Given the description of an element on the screen output the (x, y) to click on. 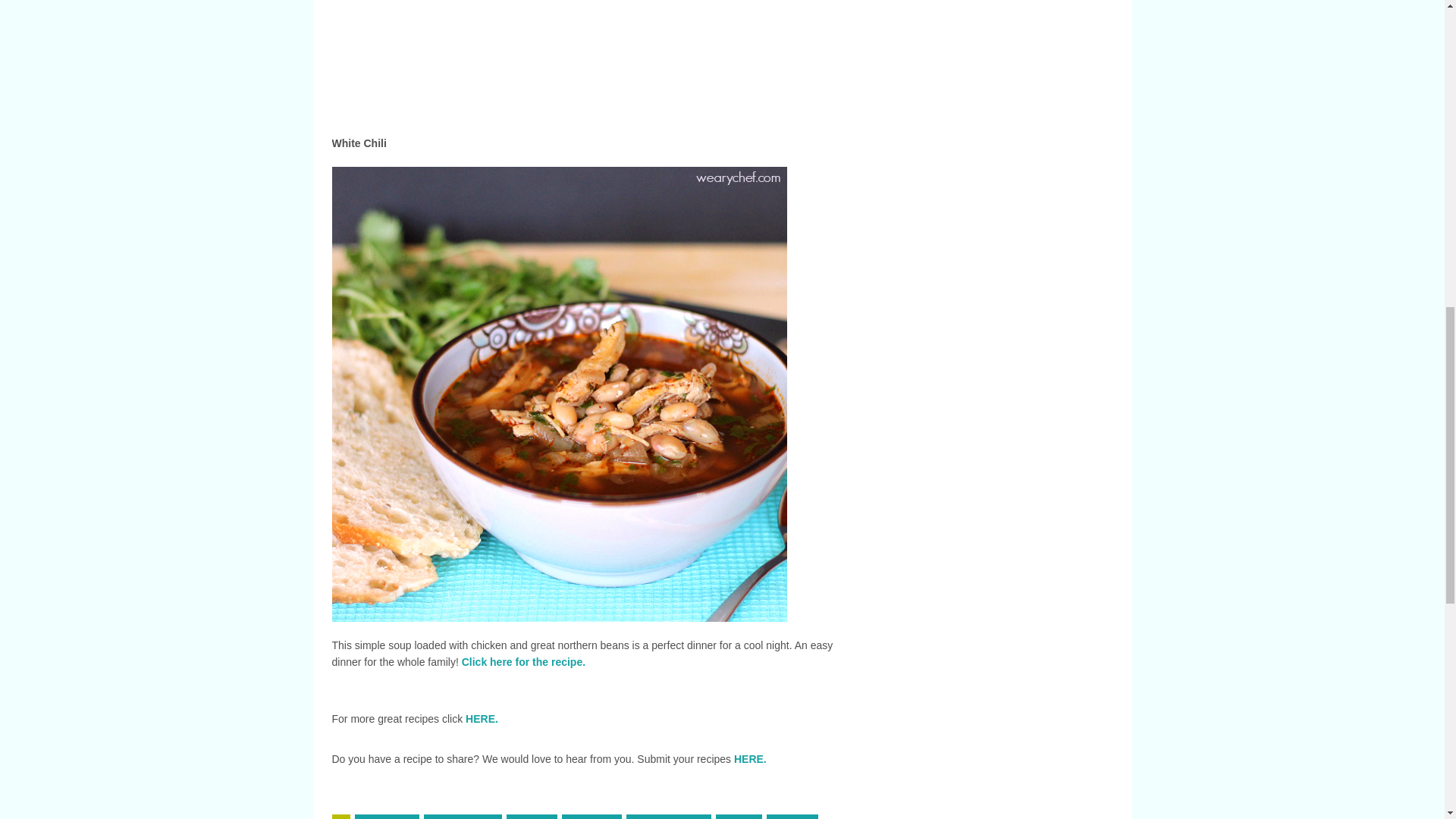
HEARTY (591, 816)
HERE. (750, 758)
BOWL (531, 816)
HERE. (481, 718)
WHITE CHILI (462, 816)
Advertisement (699, 61)
Click here for the recipe. (523, 662)
CHICKEN (387, 816)
